Given the description of an element on the screen output the (x, y) to click on. 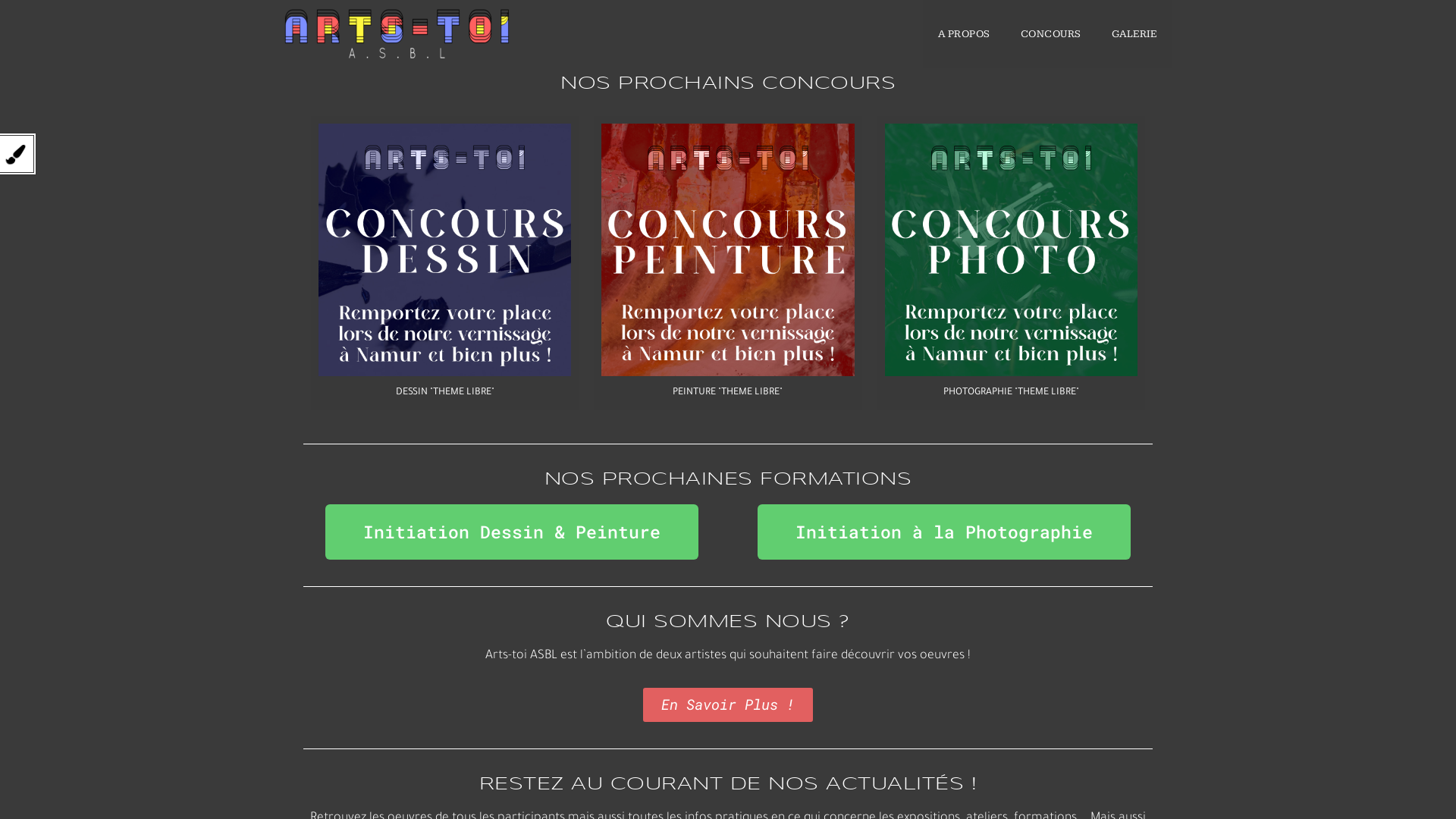
GALERIE Element type: text (1134, 34)
CONCOURS Element type: text (1050, 34)
En Savoir Plus ! Element type: text (727, 704)
A PROPOS Element type: text (963, 34)
Initiation Dessin & Peinture Element type: text (511, 531)
